Given the description of an element on the screen output the (x, y) to click on. 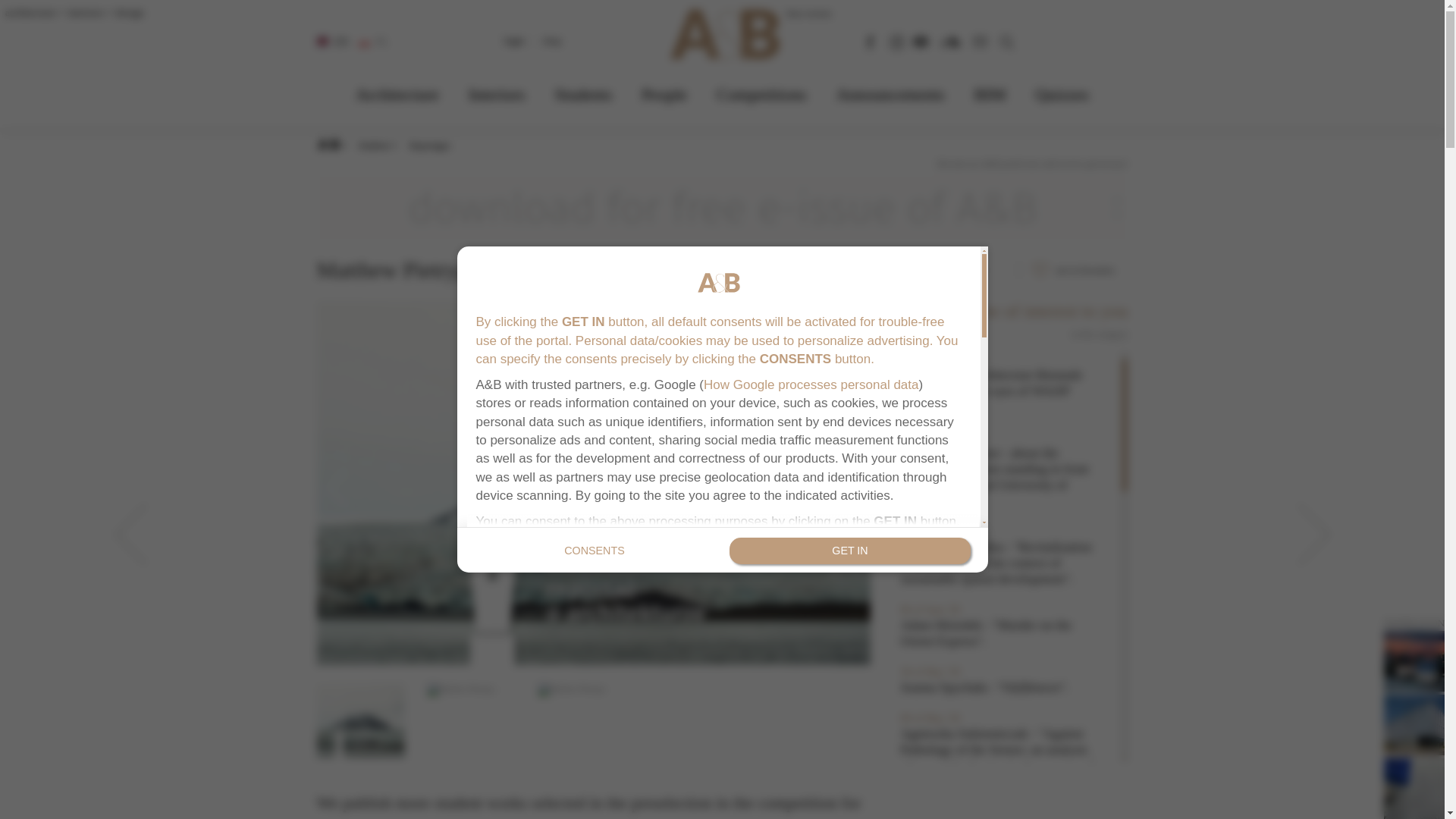
Students (582, 94)
Announcements (889, 94)
shop (552, 40)
Interiors (496, 94)
PL (374, 42)
Competitions (761, 94)
login (513, 40)
People (664, 94)
Architecture (397, 94)
